Given the description of an element on the screen output the (x, y) to click on. 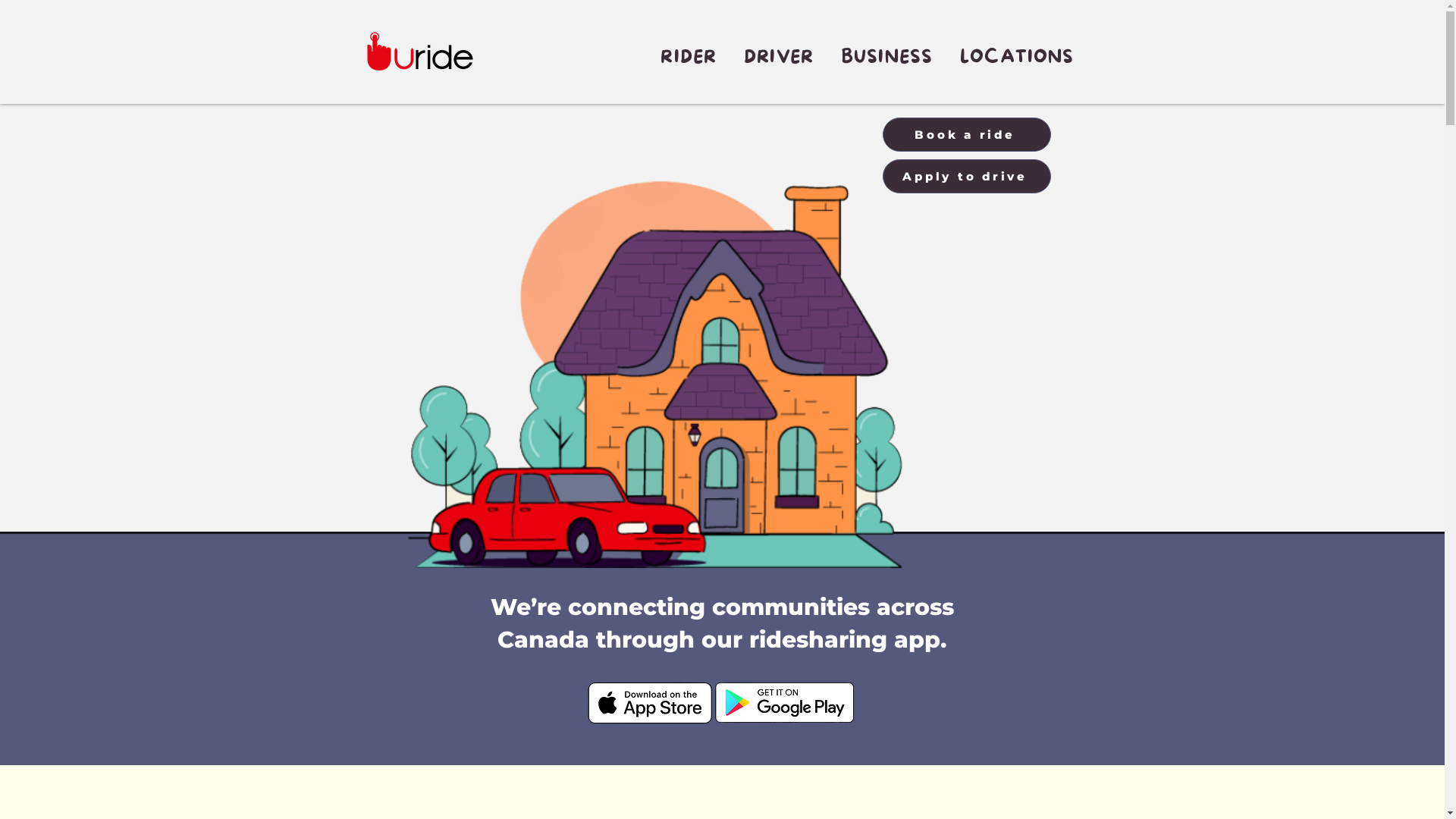
DRIVER Element type: text (778, 57)
RIDER Element type: text (688, 57)
BUSINESS Element type: text (886, 57)
Book a ride Element type: text (966, 134)
Apply to drive Element type: text (966, 176)
